Given the description of an element on the screen output the (x, y) to click on. 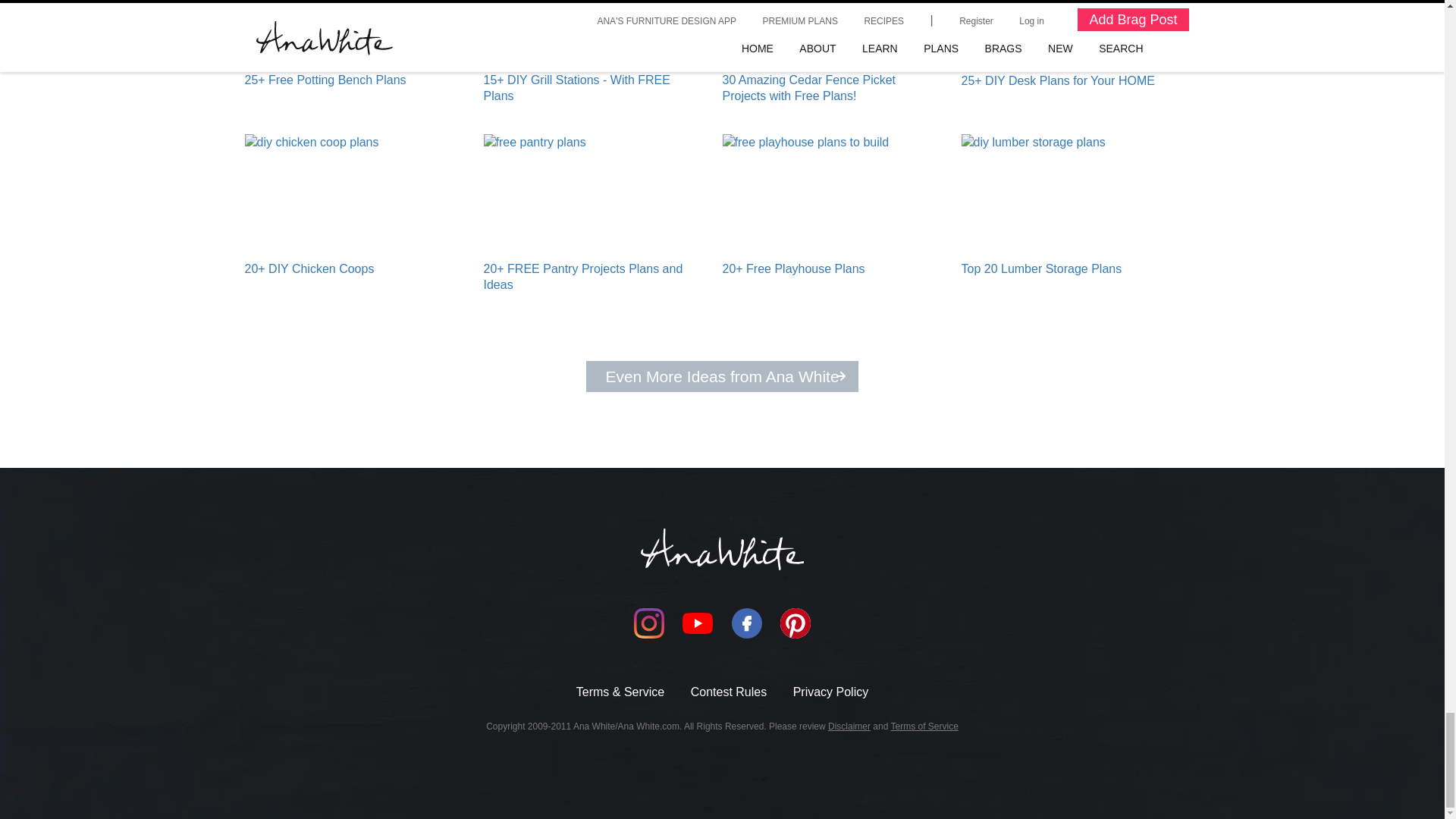
Instagram (648, 623)
YouTube (697, 623)
Facebook (746, 623)
Pinterest (795, 623)
